Given the description of an element on the screen output the (x, y) to click on. 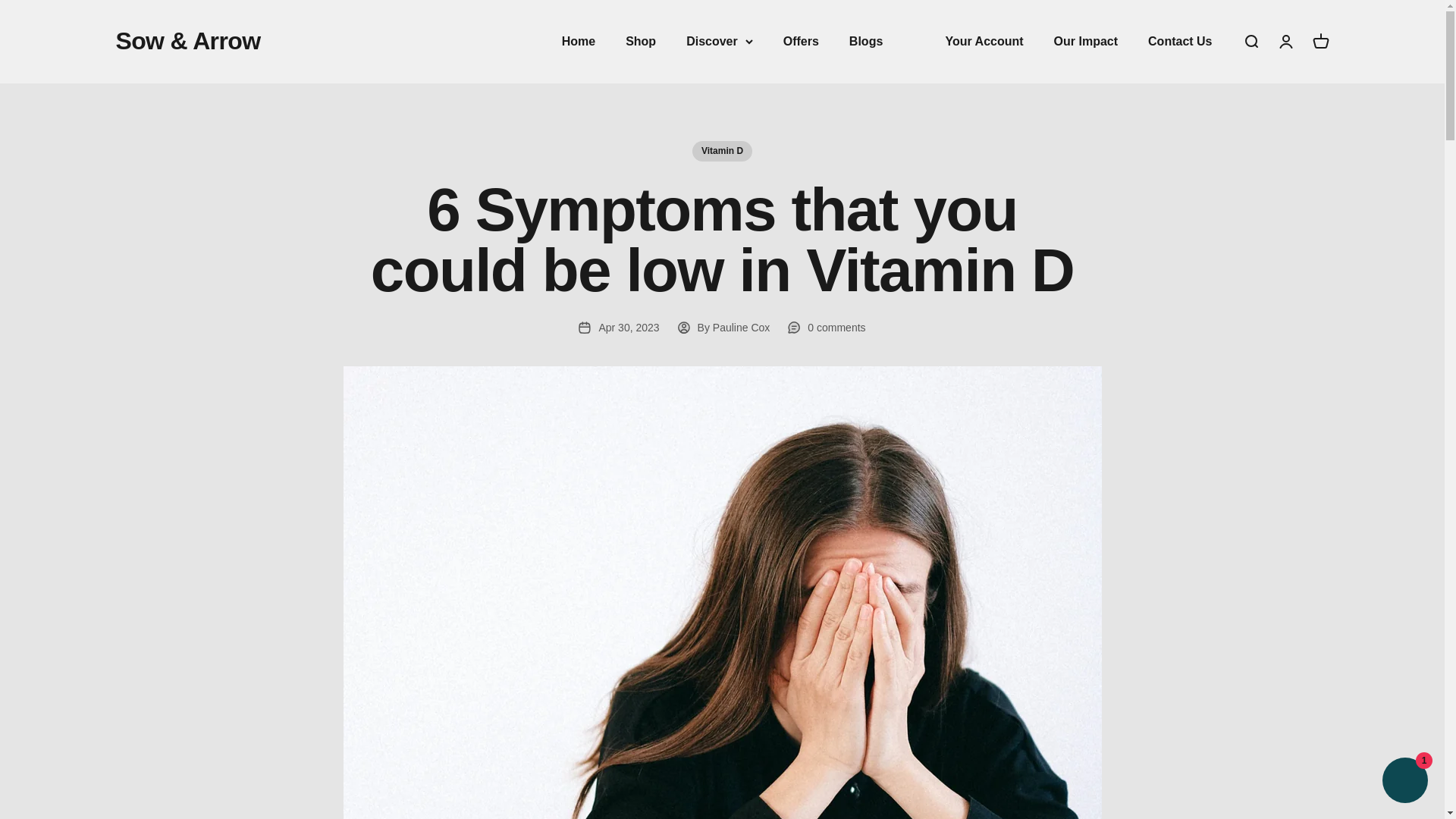
Shop (641, 41)
Shopify online store chat (1404, 781)
Home (578, 41)
Your Account (1319, 41)
Contact Us (983, 41)
Our Impact (1179, 41)
Offers (1086, 41)
Open search (800, 41)
Open account page (1250, 41)
